Given the description of an element on the screen output the (x, y) to click on. 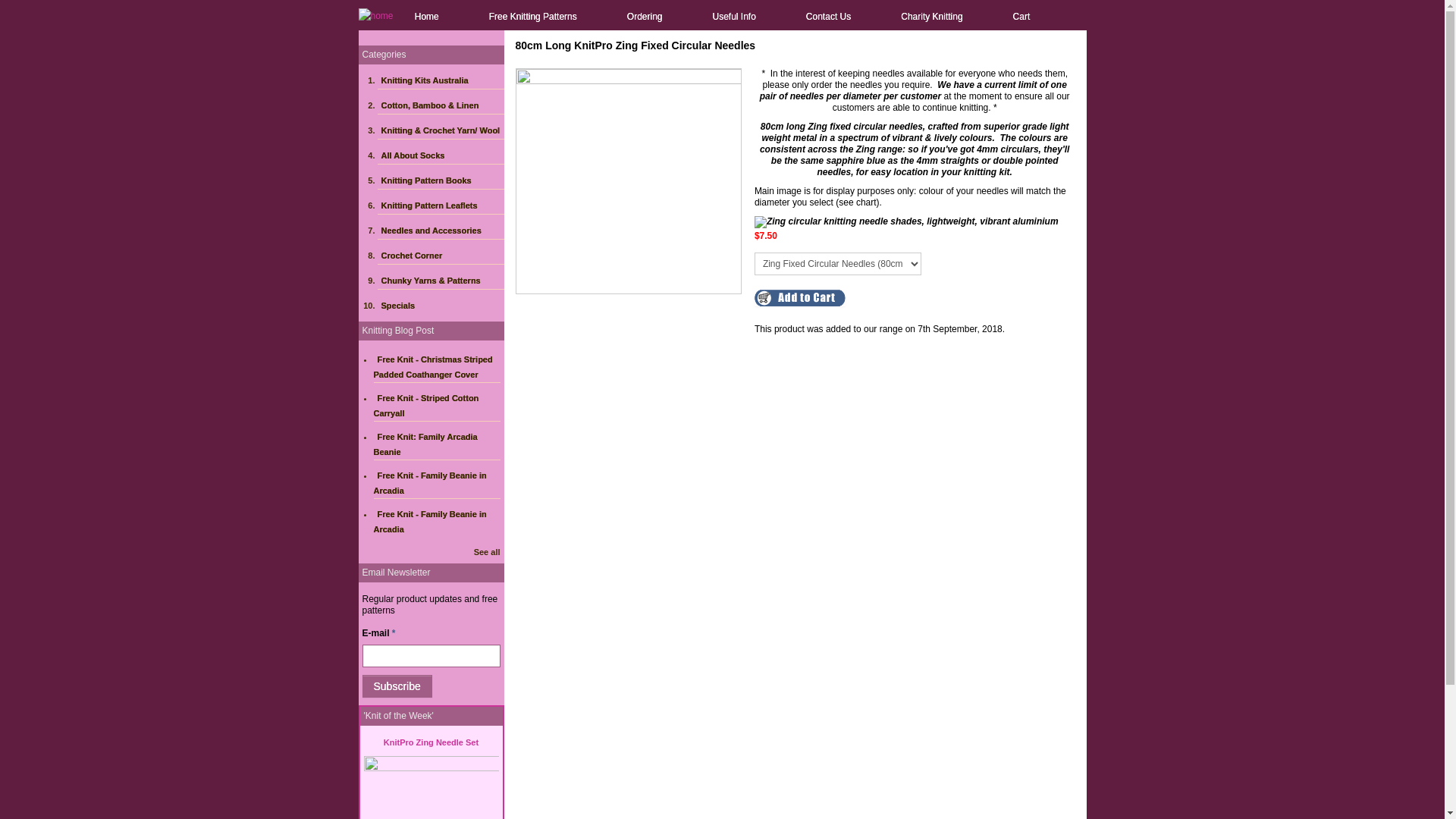
Useful Info Element type: text (733, 16)
Add to cart Element type: text (799, 297)
Cotton, Bamboo & Linen Element type: text (440, 105)
Chunky Yarns & Patterns Element type: text (440, 280)
All About Socks Element type: text (440, 155)
Knitting Pattern Books Element type: text (440, 180)
Subscribe Element type: text (397, 685)
KnitPro Zing Needle Set Element type: text (430, 741)
Contact Us Element type: text (828, 16)
Specials Element type: text (440, 305)
Cart Element type: text (1021, 16)
Home Element type: text (426, 16)
Knitting Kits Australia Element type: text (440, 80)
home Element type: hover (374, 14)
See all Element type: text (486, 551)
Free Knit - Striped Cotton Carryall Element type: text (425, 405)
Free Knit - Family Beanie in Arcadia Element type: text (429, 521)
Crochet Corner Element type: text (440, 255)
Free Knitting Patterns Element type: text (533, 16)
Free Knit - Family Beanie in Arcadia Element type: text (429, 482)
Zing Fixed Circular Needles (80cm Long) 2.25mm Element type: hover (628, 180)
Knitting & Crochet Yarn/ Wool Element type: text (440, 130)
Ordering Element type: text (644, 16)
Charity Knitting Element type: text (931, 16)
Knitting Pattern Leaflets Element type: text (440, 205)
Free Knit: Family Arcadia Beanie Element type: text (424, 444)
Needles and Accessories Element type: text (440, 230)
Free Knit - Christmas Striped Padded Coathanger Cover Element type: text (432, 366)
